Given the description of an element on the screen output the (x, y) to click on. 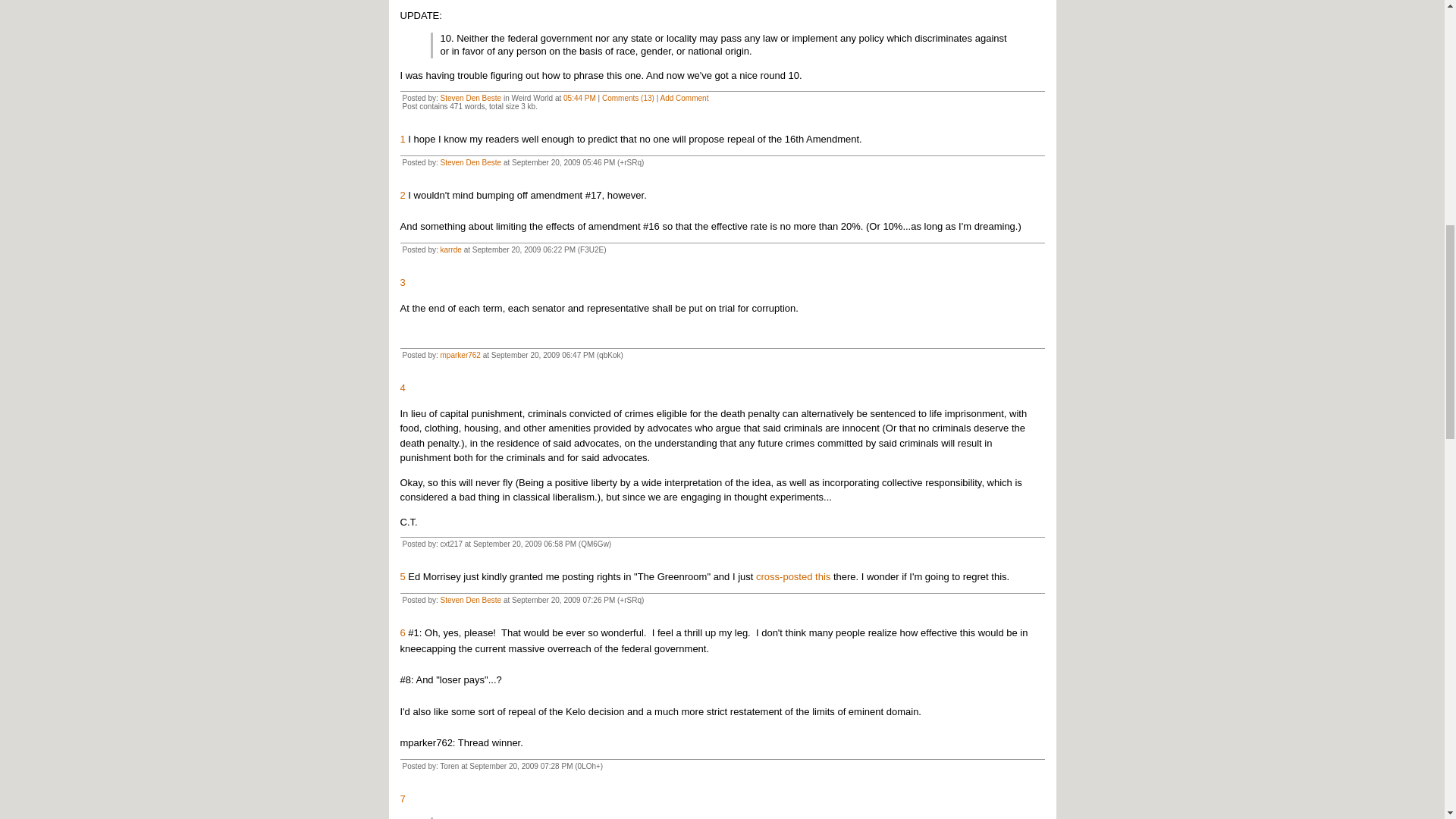
karrde (451, 249)
mparker762 (460, 355)
Add Comment (685, 98)
05:44 PM (579, 98)
cross-posted this (792, 576)
Steven Den Beste (471, 162)
Steven Den Beste (471, 600)
Steven Den Beste (471, 98)
